Given the description of an element on the screen output the (x, y) to click on. 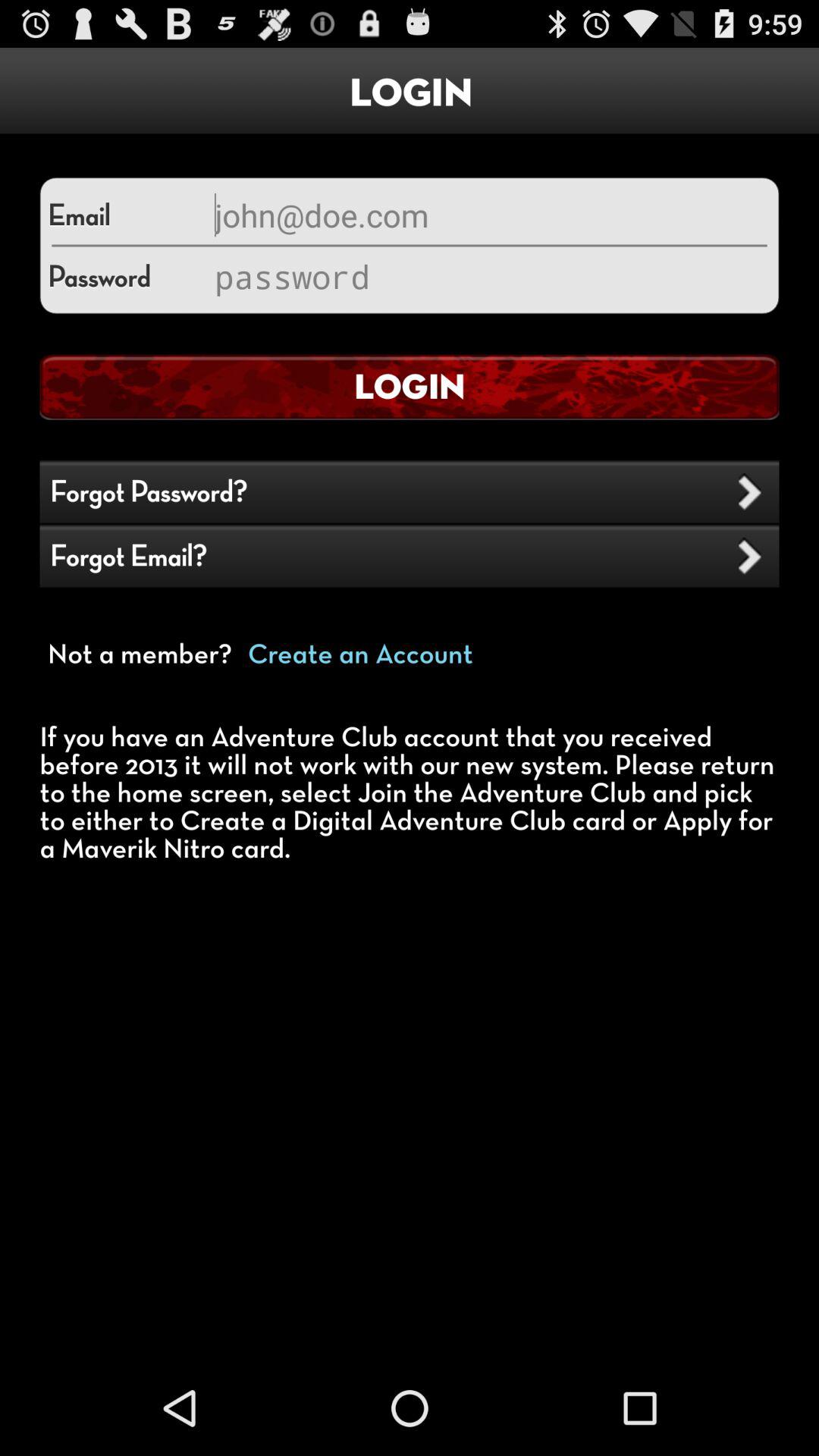
toggle password option (489, 275)
